Given the description of an element on the screen output the (x, y) to click on. 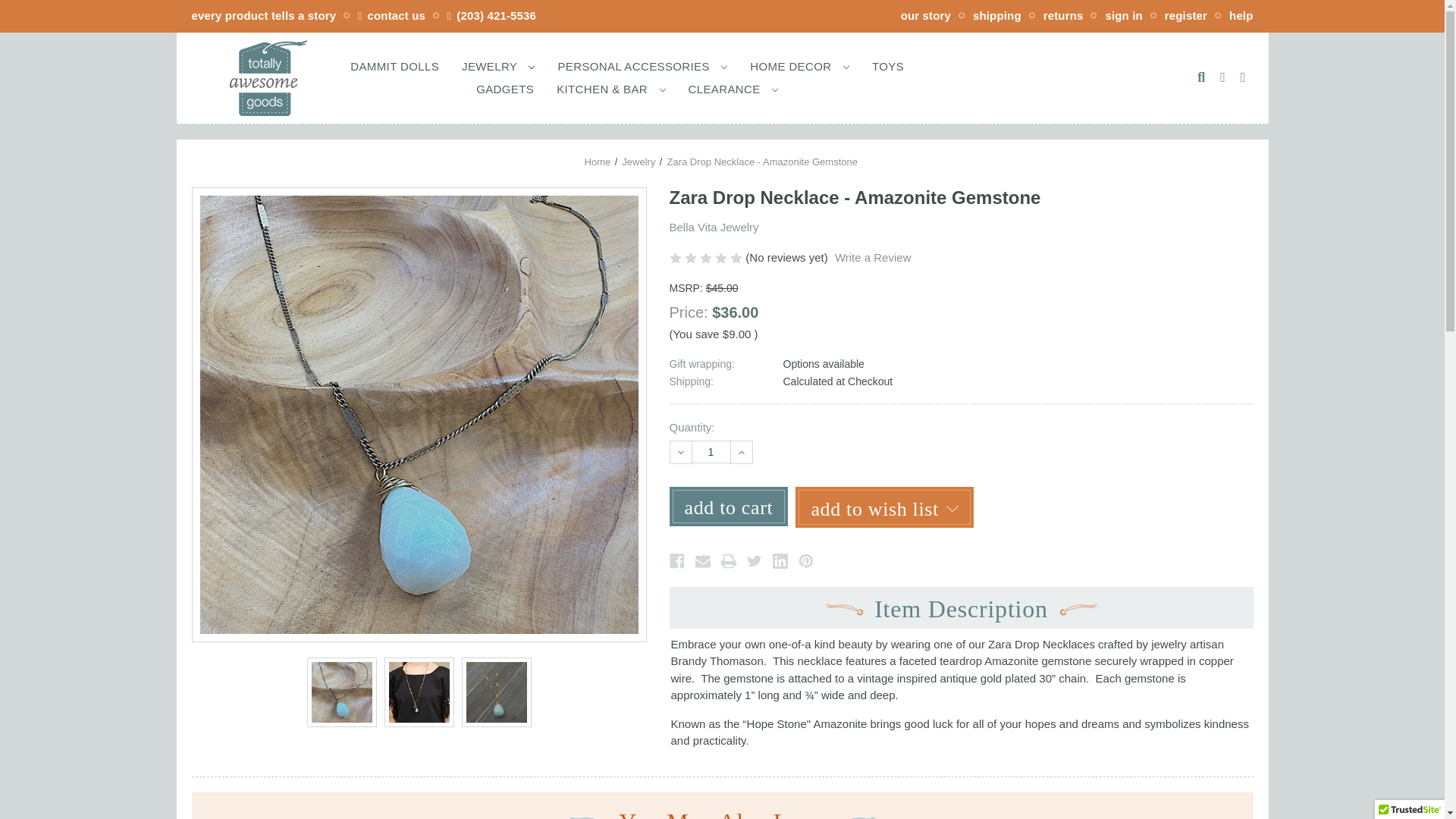
CLEARANCE (733, 87)
Add to Cart (727, 506)
DAMMIT DOLLS (394, 65)
Zara Drop Necklace - Amazonite Gemstone (341, 691)
help (1240, 15)
sign in (1123, 15)
JEWELRY (497, 65)
Zara Drop Necklace - Amazonite Gemstone (495, 691)
shipping (997, 15)
HOME DECOR (799, 65)
TOYS (887, 65)
PERSONAL ACCESSORIES (642, 65)
Zara Drop Necklace - Amazonite Gemstone (418, 691)
Totally Awesome Goods (266, 77)
